Given the description of an element on the screen output the (x, y) to click on. 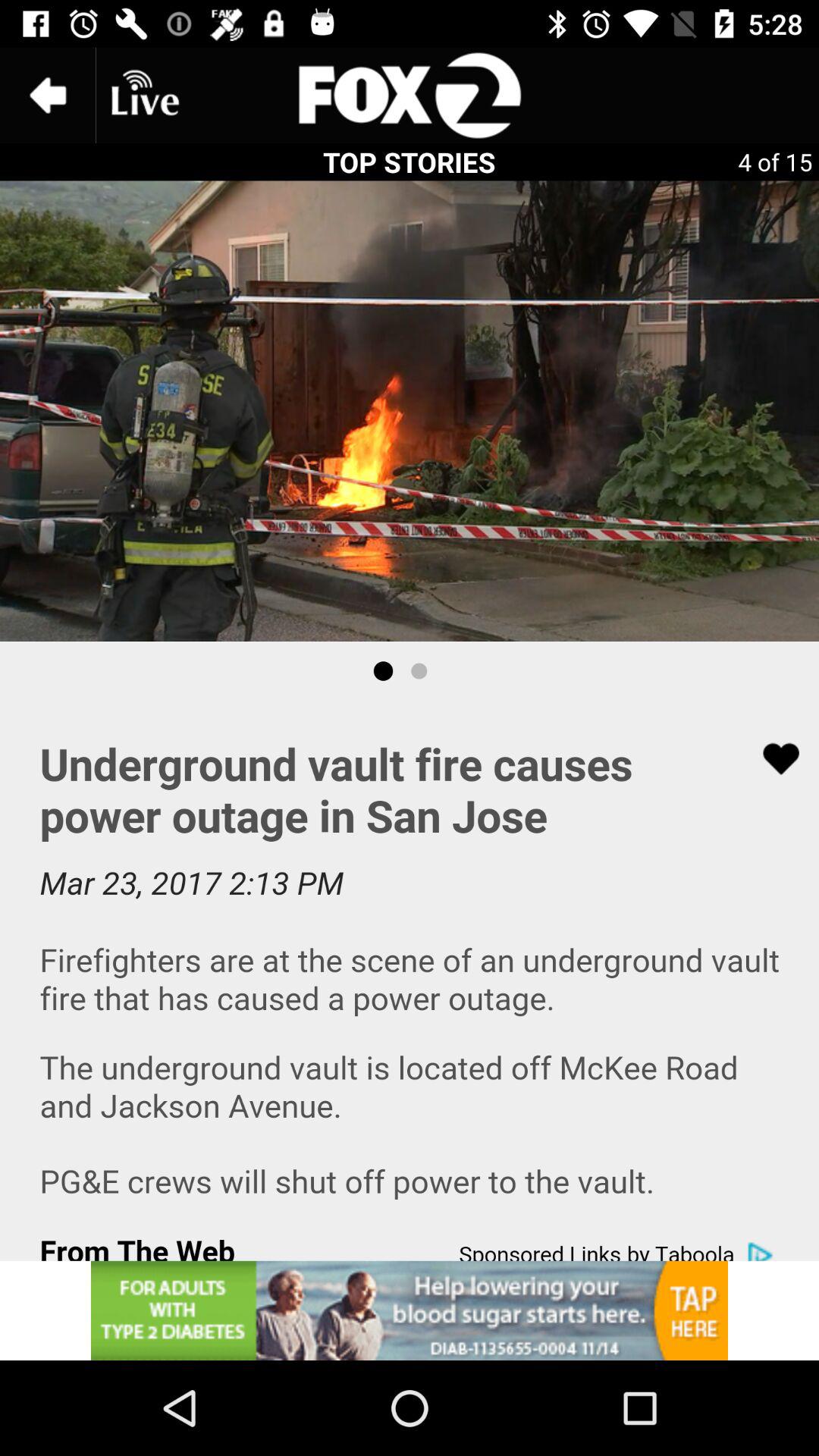
like button (771, 758)
